Given the description of an element on the screen output the (x, y) to click on. 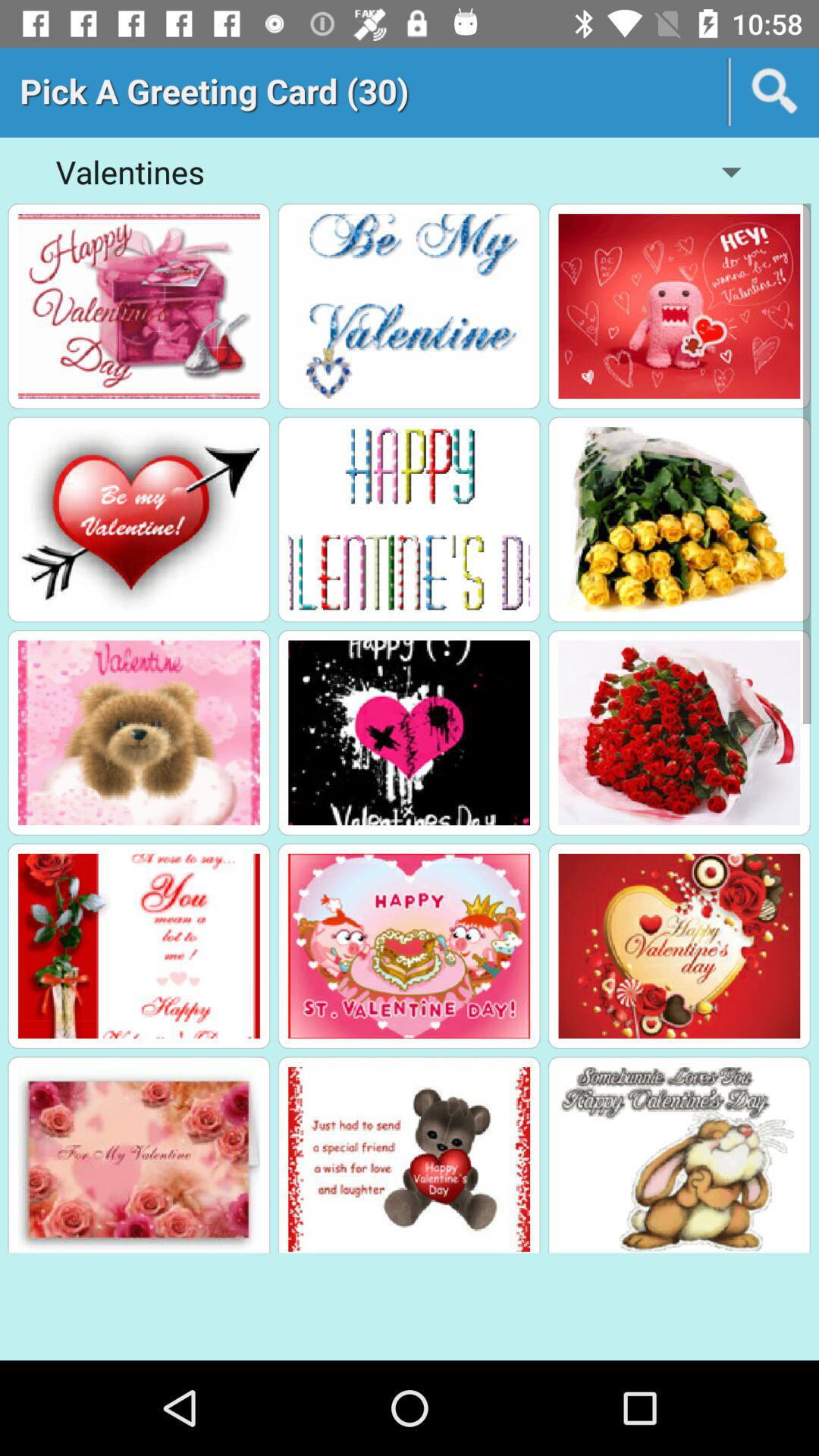
click to the greeting card (138, 732)
